Given the description of an element on the screen output the (x, y) to click on. 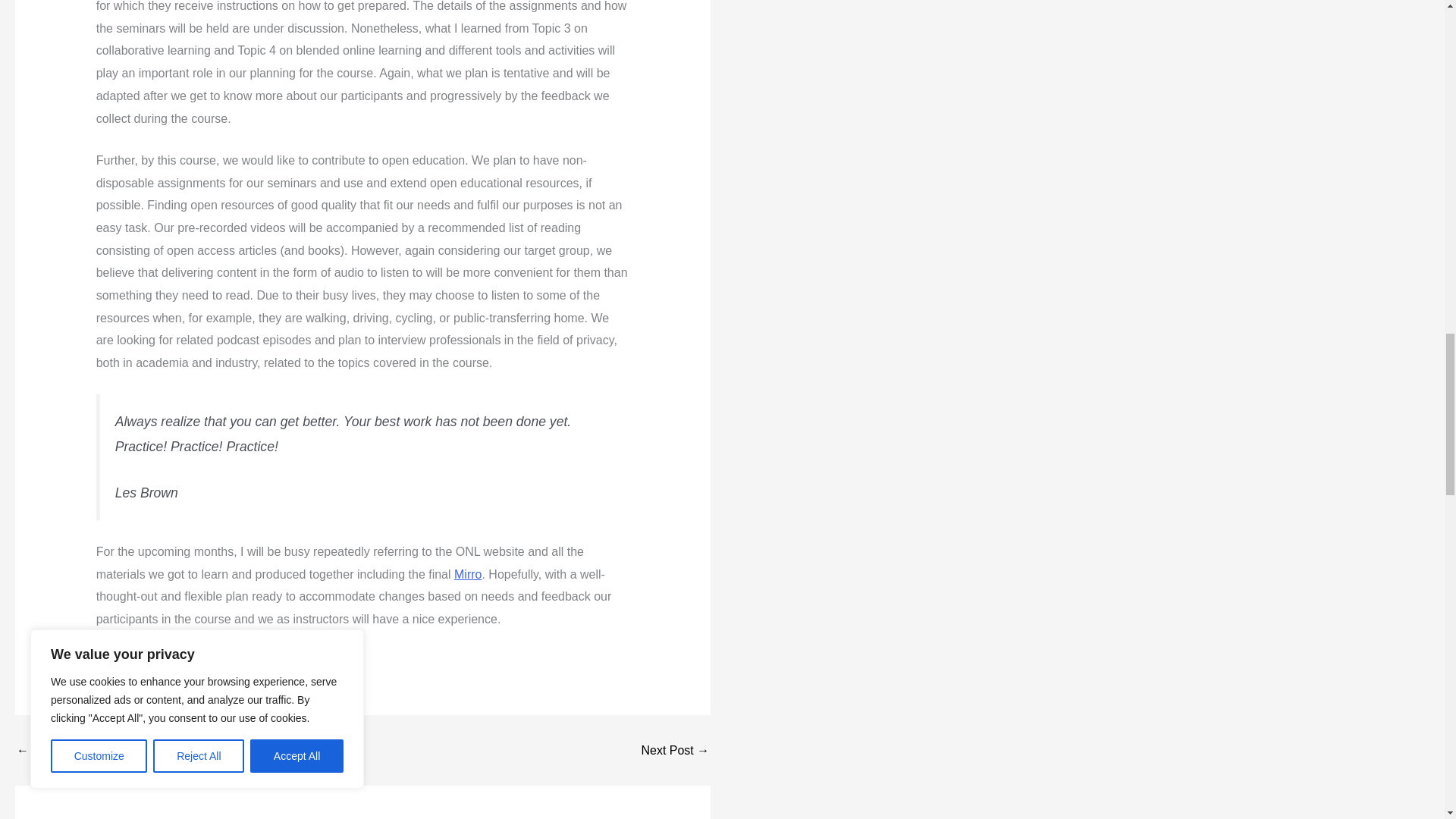
Mirro (467, 573)
Assessment in the era of ChatGPT: how should we adapt? (674, 750)
